Given the description of an element on the screen output the (x, y) to click on. 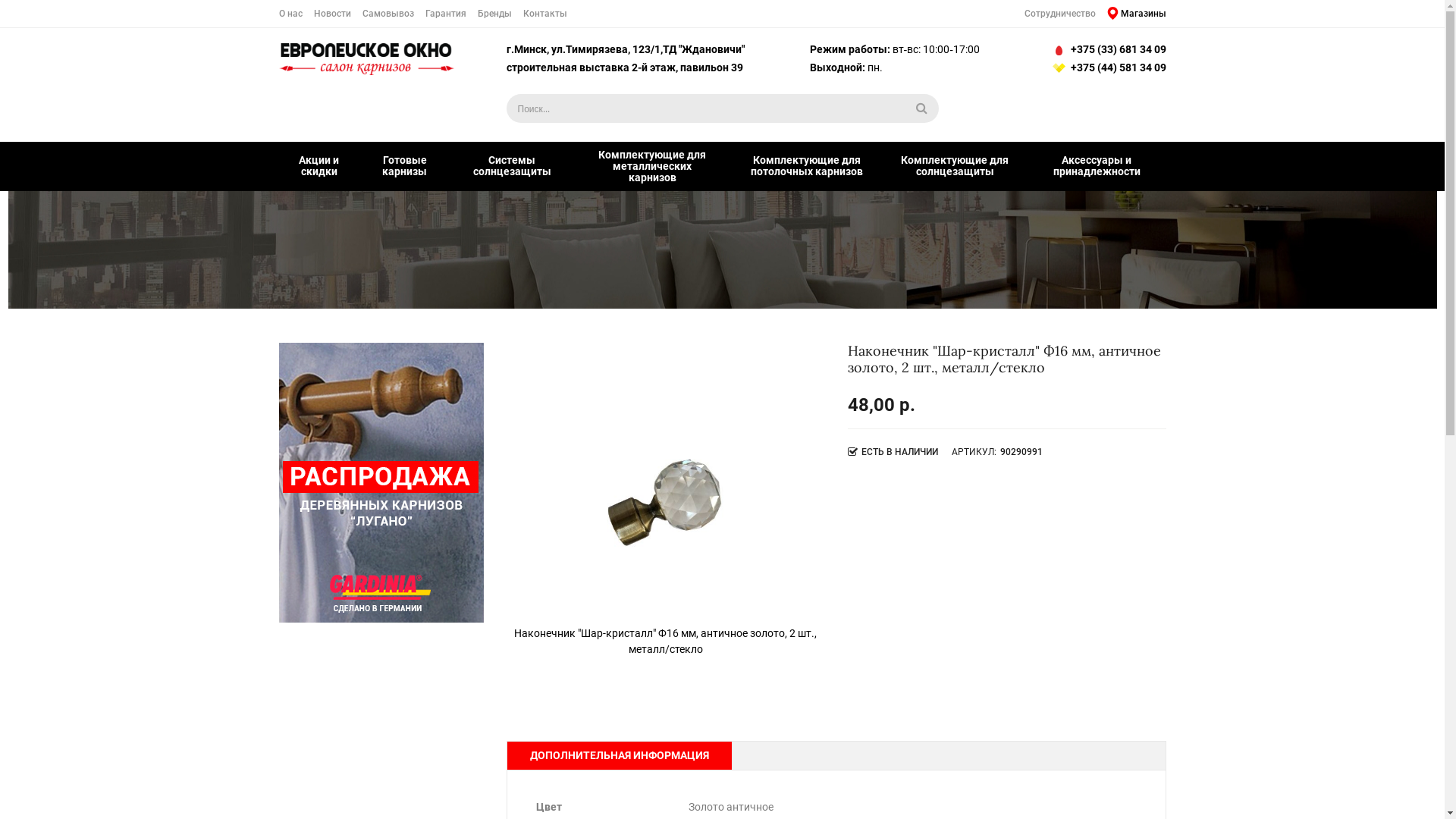
+375 (33) 681 34 09 Element type: text (1107, 49)
+375 (44) 581 34 09 Element type: text (1107, 68)
